Given the description of an element on the screen output the (x, y) to click on. 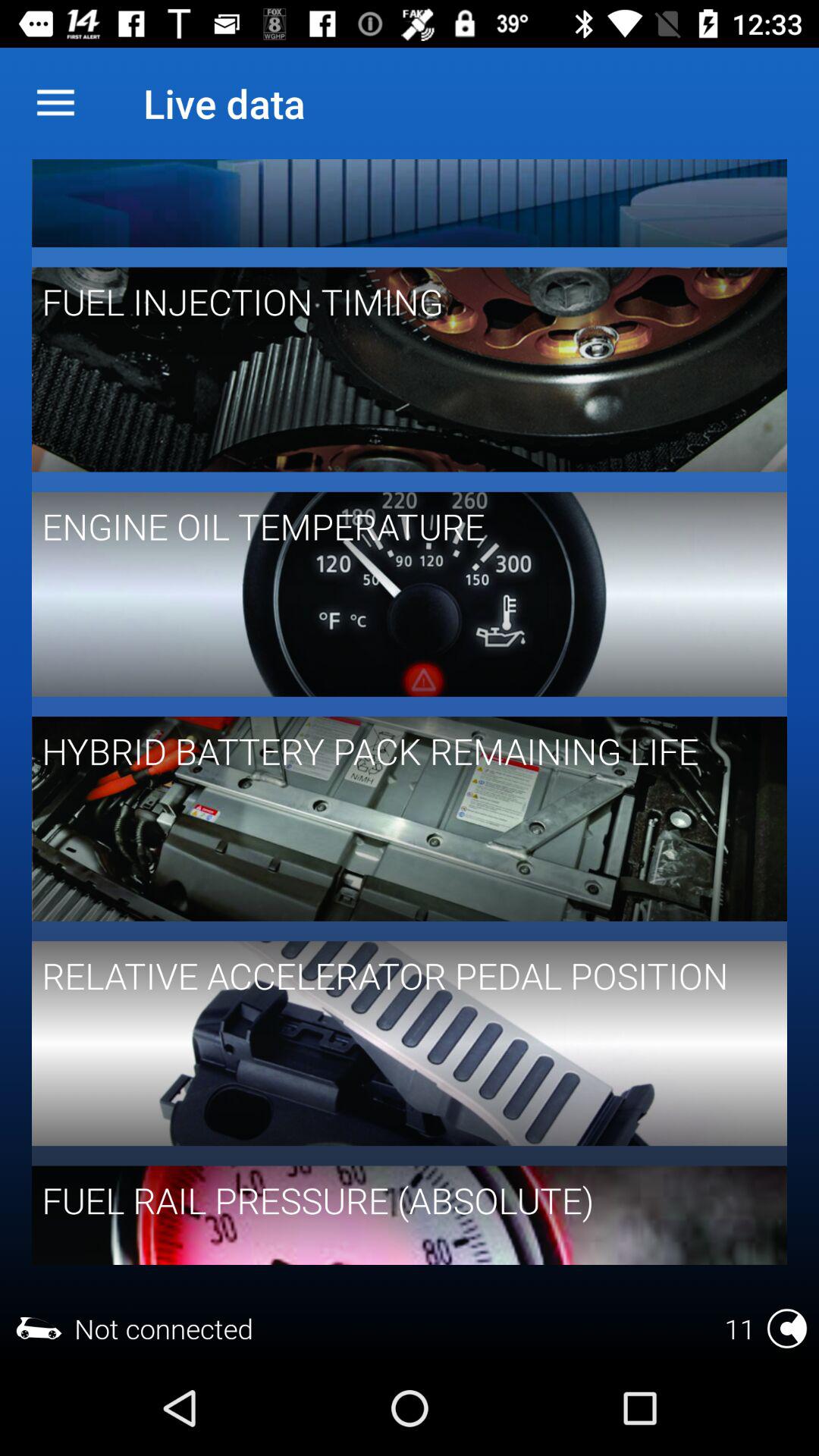
turn on fuel injection timing item (398, 301)
